Given the description of an element on the screen output the (x, y) to click on. 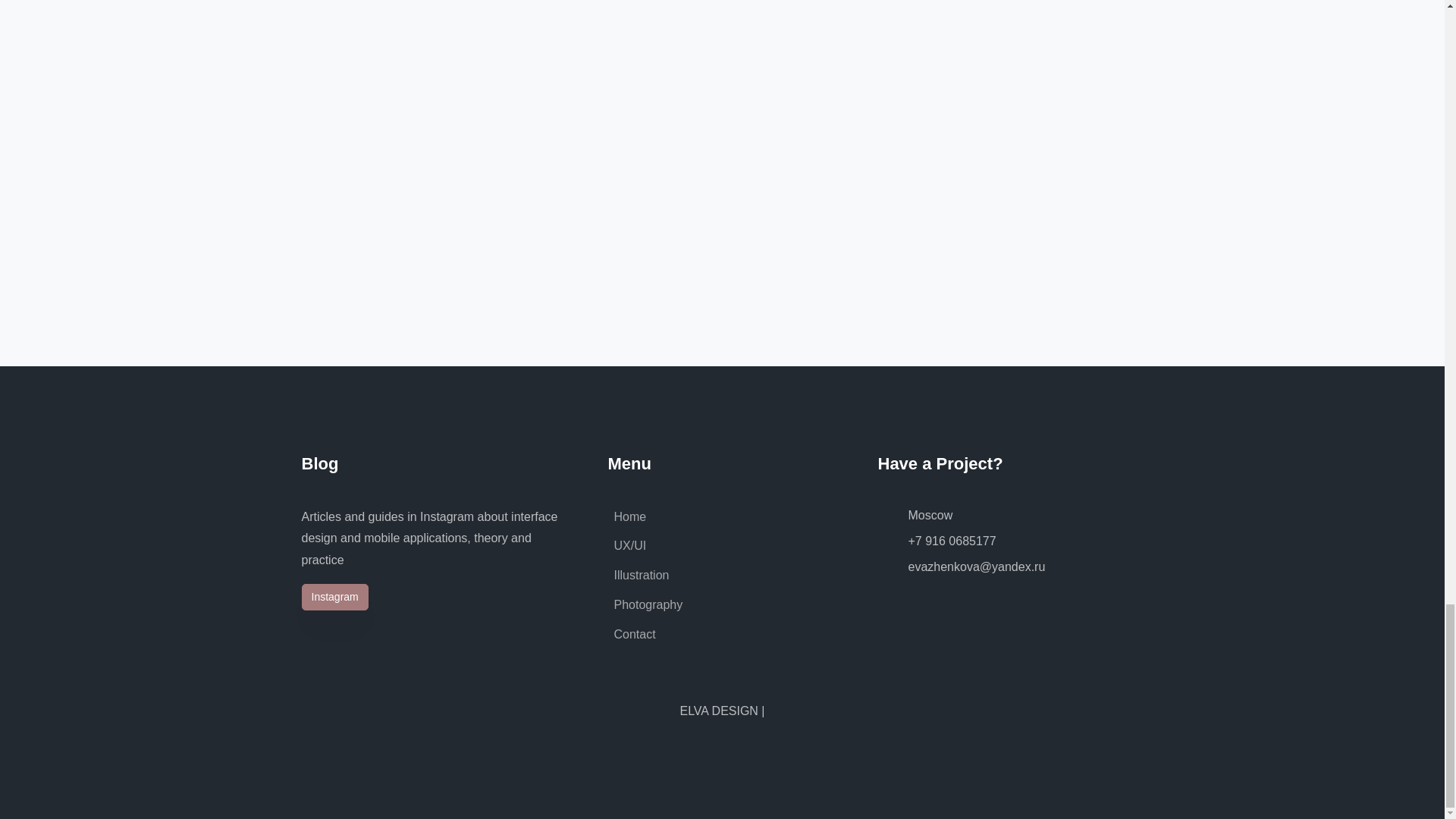
Home (627, 516)
Illustration (638, 574)
Contact (632, 634)
Photography (645, 604)
Instagram (334, 596)
